Given the description of an element on the screen output the (x, y) to click on. 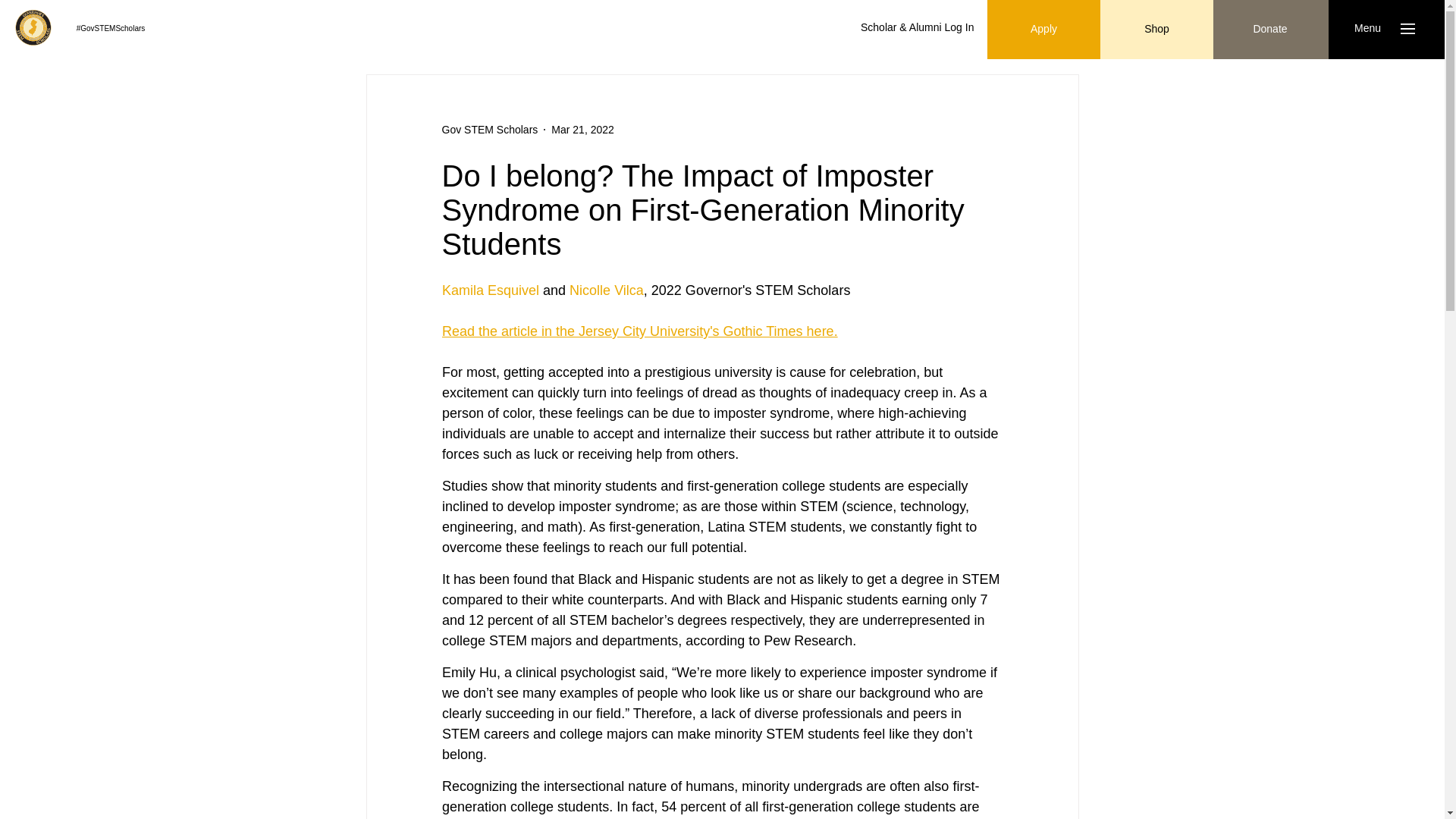
Apply (1043, 29)
Donate (1269, 29)
Gov STEM Scholars (489, 129)
Shop (1156, 29)
Mar 21, 2022 (582, 128)
Nicolle Vilca (606, 290)
Gov STEM Scholars (489, 129)
Kamila Esquivel (489, 290)
